Given the description of an element on the screen output the (x, y) to click on. 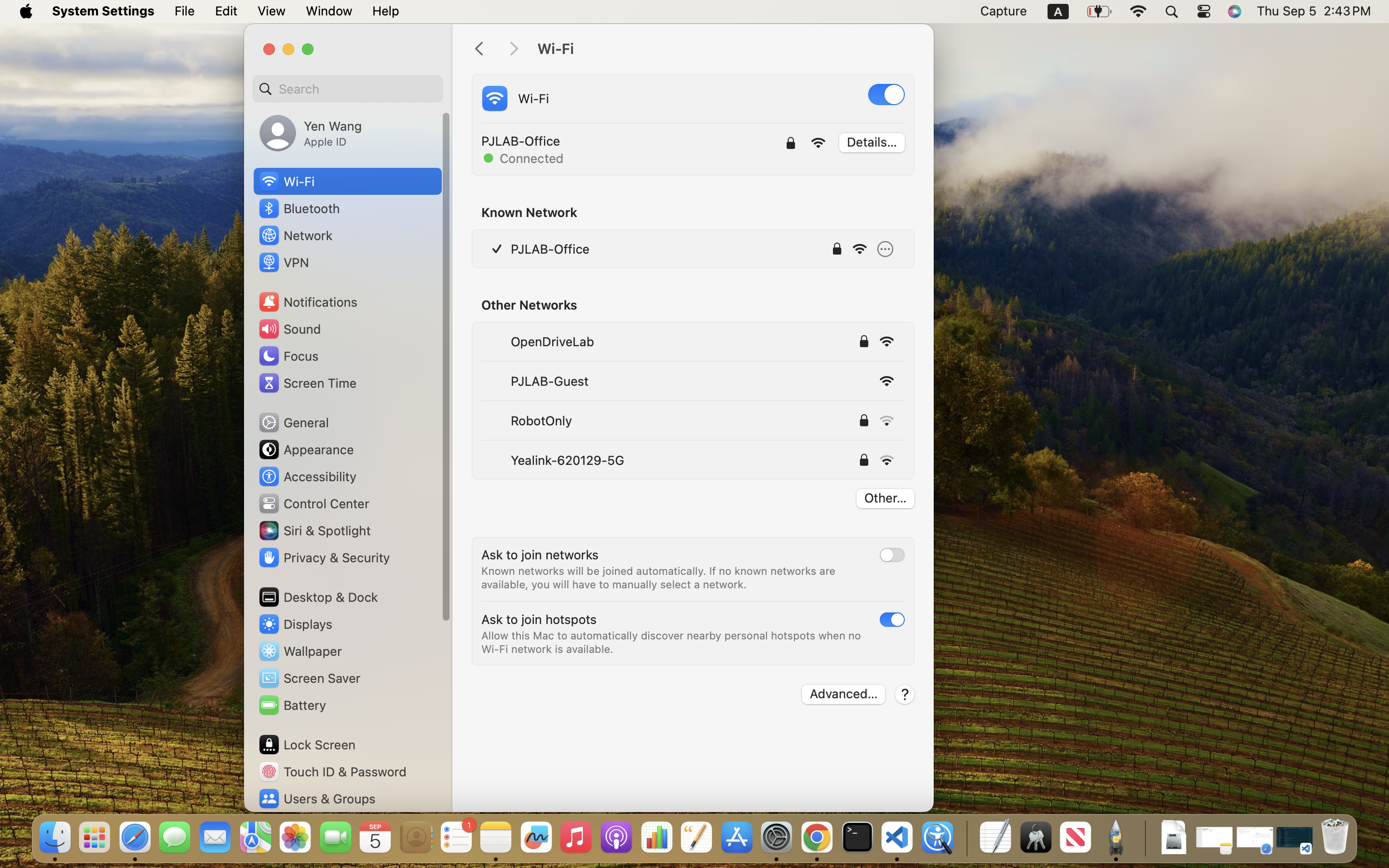
Allow this Mac to automatically discover nearby personal hotspots when no Wi‑Fi network is available. Element type: AXStaticText (672, 641)
Bluetooth Element type: AXStaticText (298, 207)
Appearance Element type: AXStaticText (305, 449)
Yealink-620129-5G Element type: AXStaticText (567, 459)
Yen Wang, Apple ID Element type: AXStaticText (310, 132)
